Given the description of an element on the screen output the (x, y) to click on. 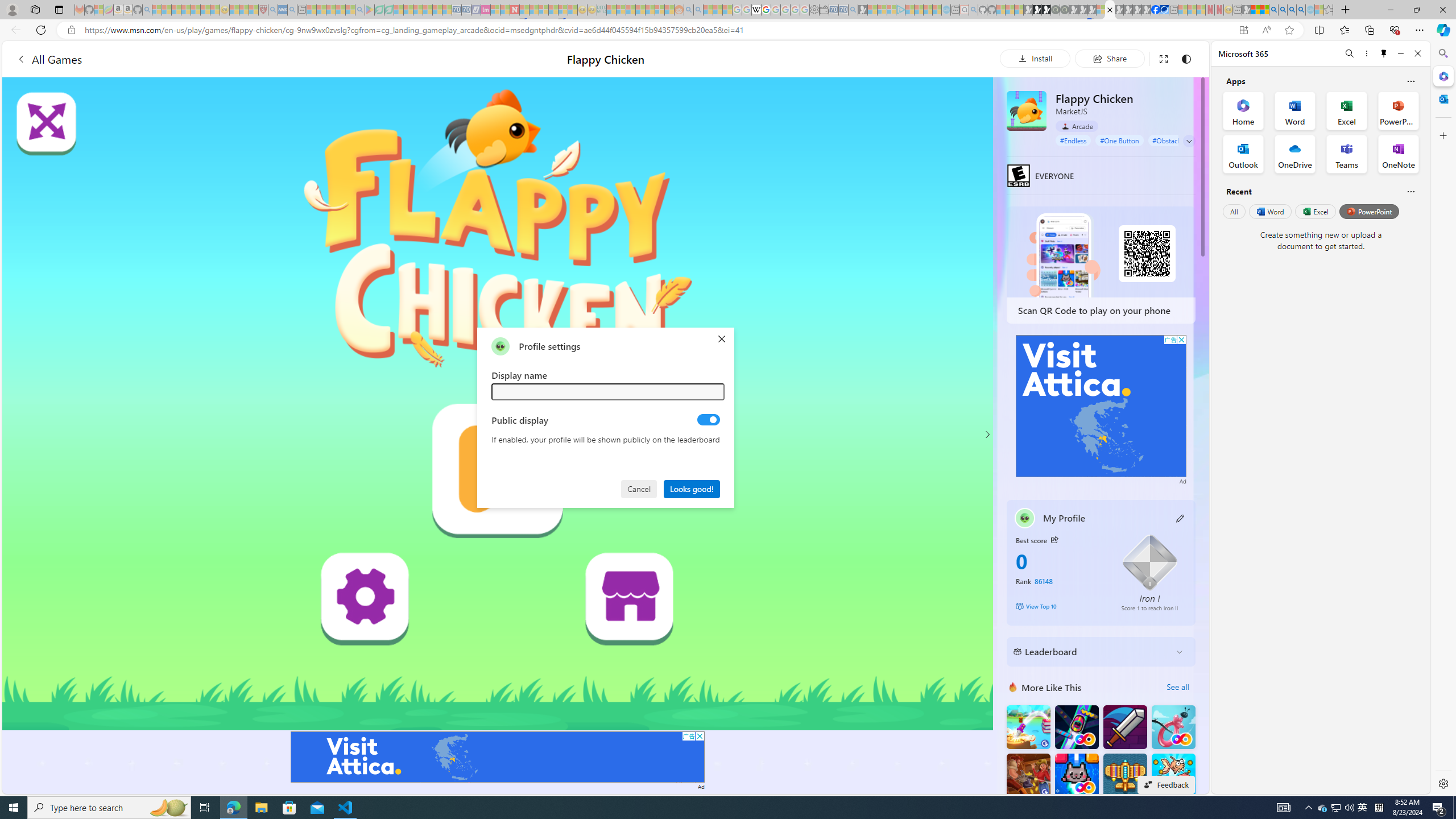
Change to dark mode (1185, 58)
Terms of Use Agreement - Sleeping (378, 9)
Bluey: Let's Play! - Apps on Google Play - Sleeping (369, 9)
Sign in to your account - Sleeping (1100, 9)
Flappy Chicken (1026, 110)
github - Search - Sleeping (972, 9)
MSN - Sleeping (1246, 9)
